Given the description of an element on the screen output the (x, y) to click on. 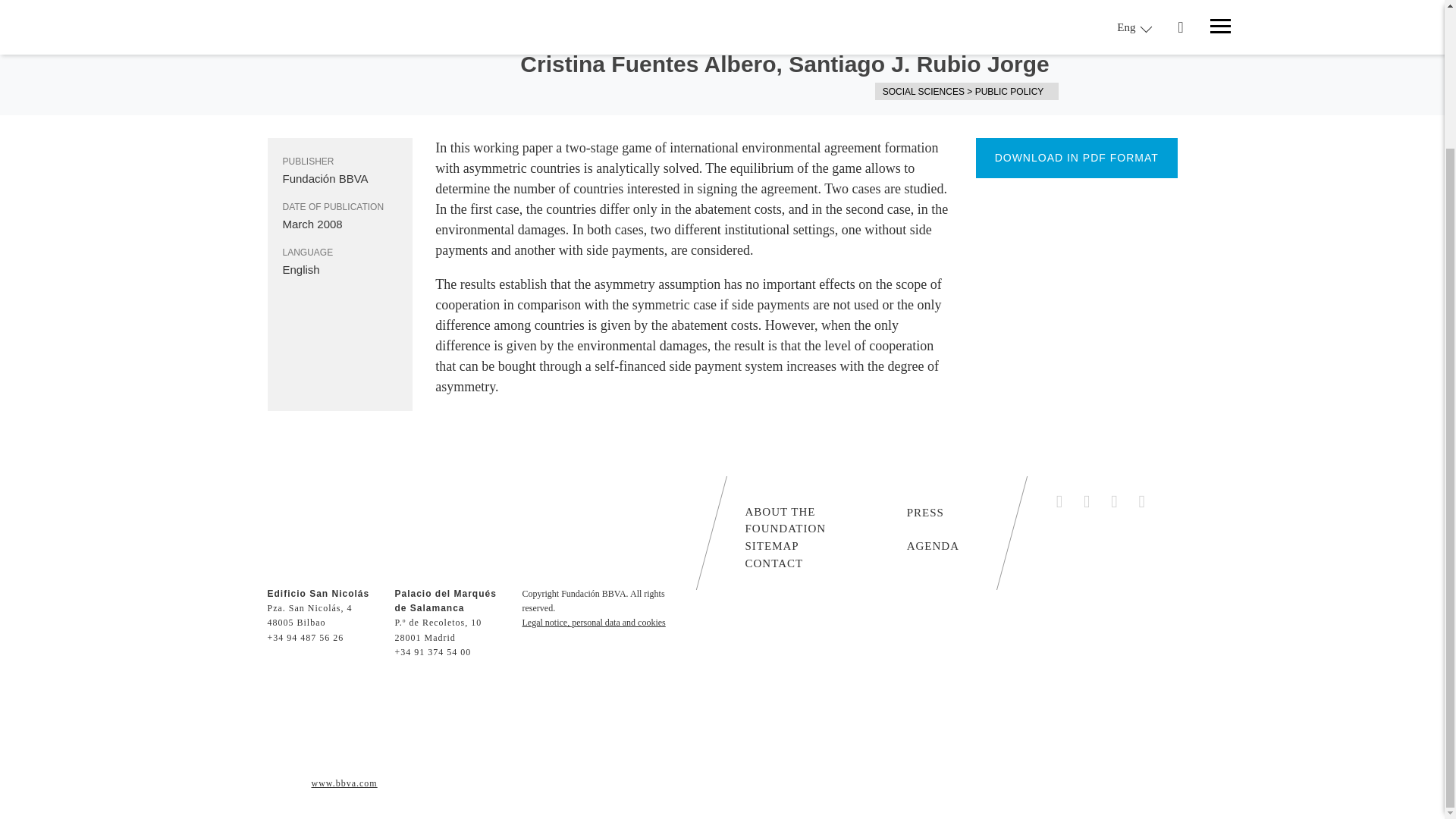
PRESS (925, 511)
ABOUT THE FOUNDATION (817, 518)
www.bbva.com (344, 783)
Legal notice, personal data and cookies (593, 622)
Santiago J. Rubio Jorge (918, 63)
AGENDA (933, 544)
SITEMAP (770, 544)
DOWNLOAD IN PDF FORMAT (1076, 158)
CONTACT (773, 562)
